Given the description of an element on the screen output the (x, y) to click on. 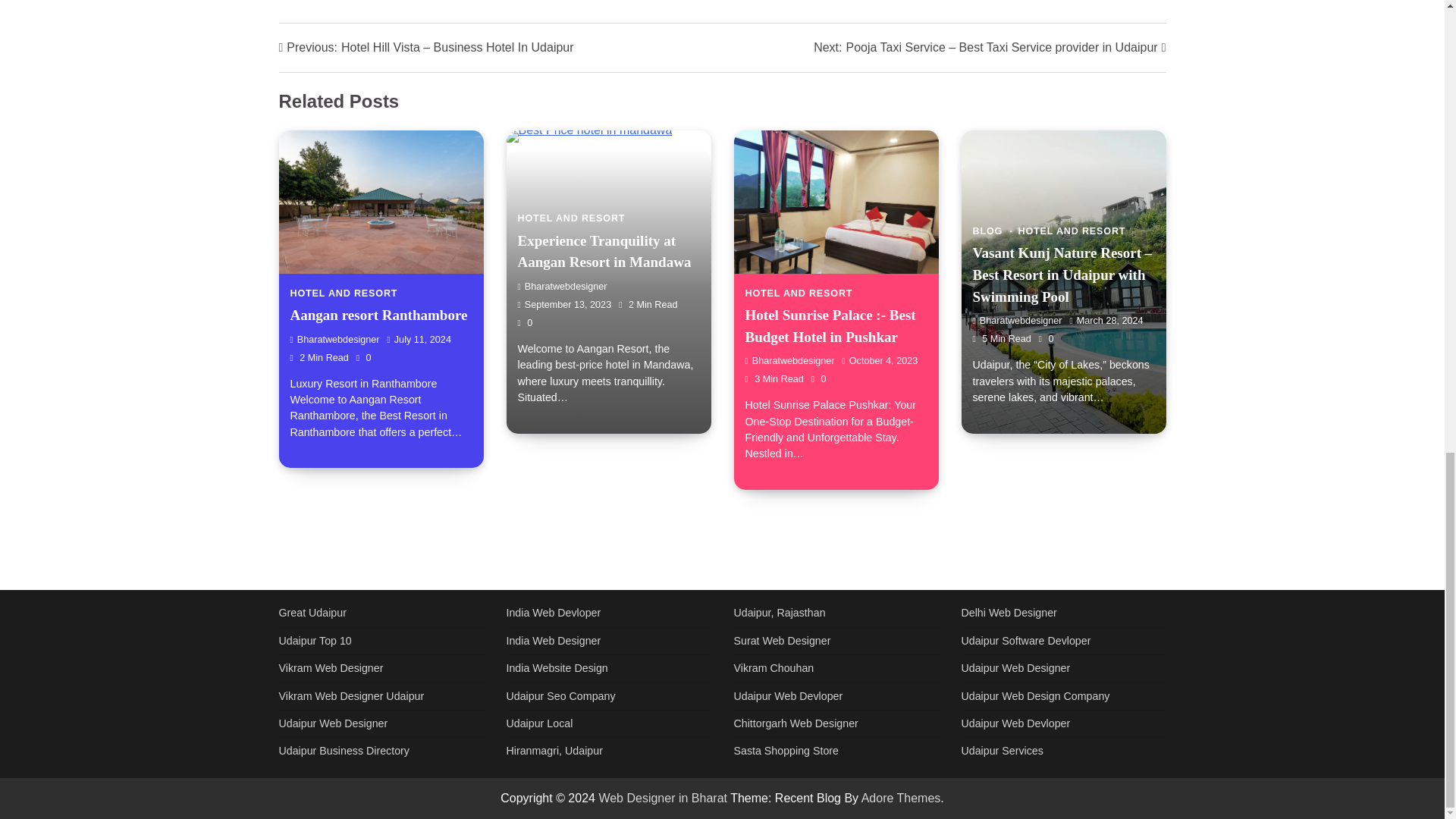
Bharatwebdesigner (1016, 320)
Hotel Sunrise Palace :- Best Budget Hotel in Pushkar (829, 325)
Bharatwebdesigner (333, 339)
HOTEL AND RESORT (797, 293)
Experience Tranquility at Aangan Resort in Mandawa (603, 251)
Great Udaipur (312, 612)
Aangan resort Ranthambore (378, 314)
HOTEL AND RESORT (570, 217)
HOTEL AND RESORT (343, 293)
Bharatwebdesigner (789, 360)
